Given the description of an element on the screen output the (x, y) to click on. 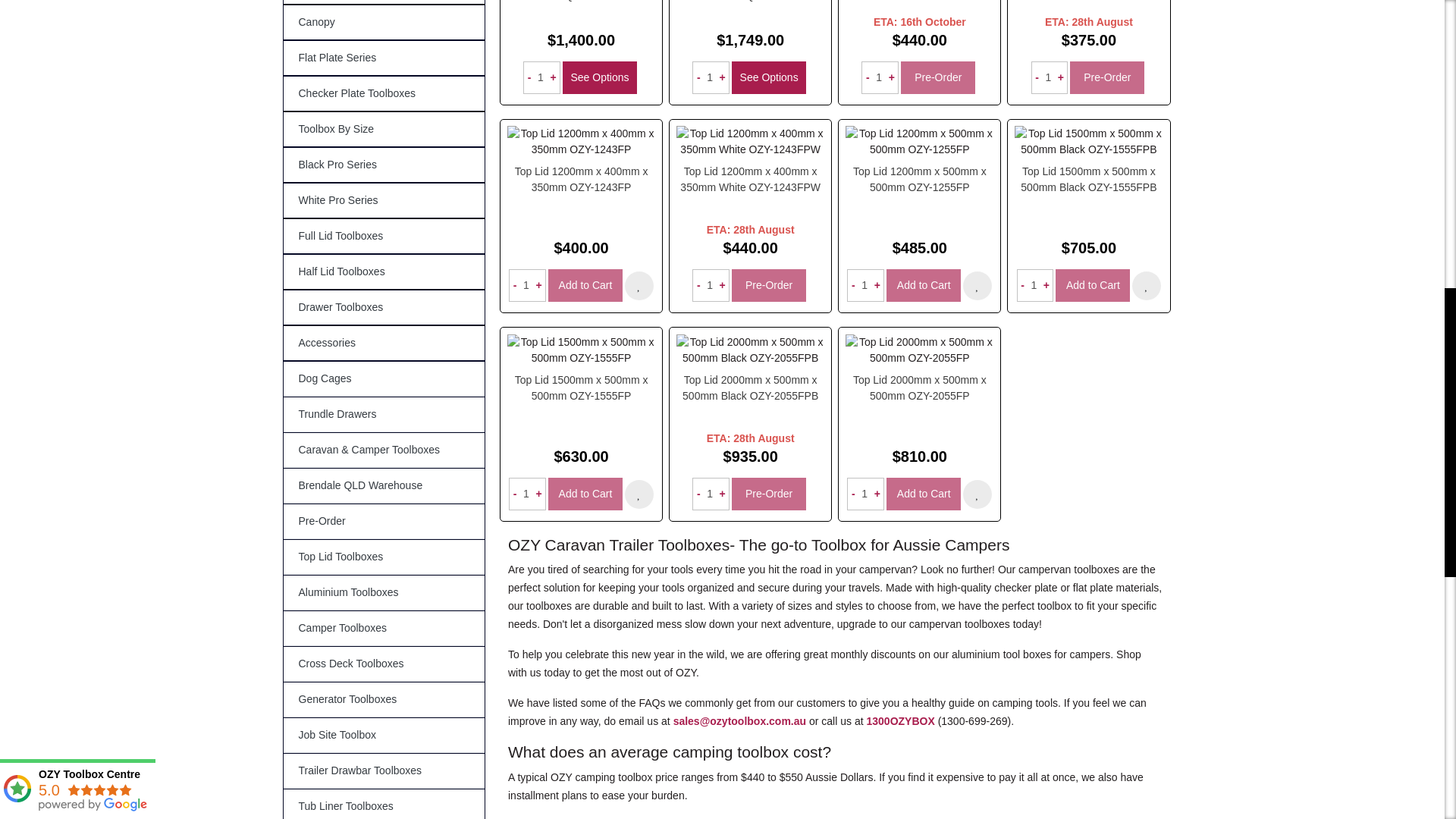
Add Top Lid 1200mm x 500mm x 500mm OZY-1255FP to Cart (923, 285)
Add Top Lid 1200mm x 400mm x 350mm OZY-1243FP to Cart (585, 285)
Add To Wishlist (976, 285)
Add Top Lid 1500mm x 500mm x 500mm OZY-1555FP to Cart (585, 493)
Add To Wishlist (1146, 285)
Add To Wishlist (638, 285)
